Given the description of an element on the screen output the (x, y) to click on. 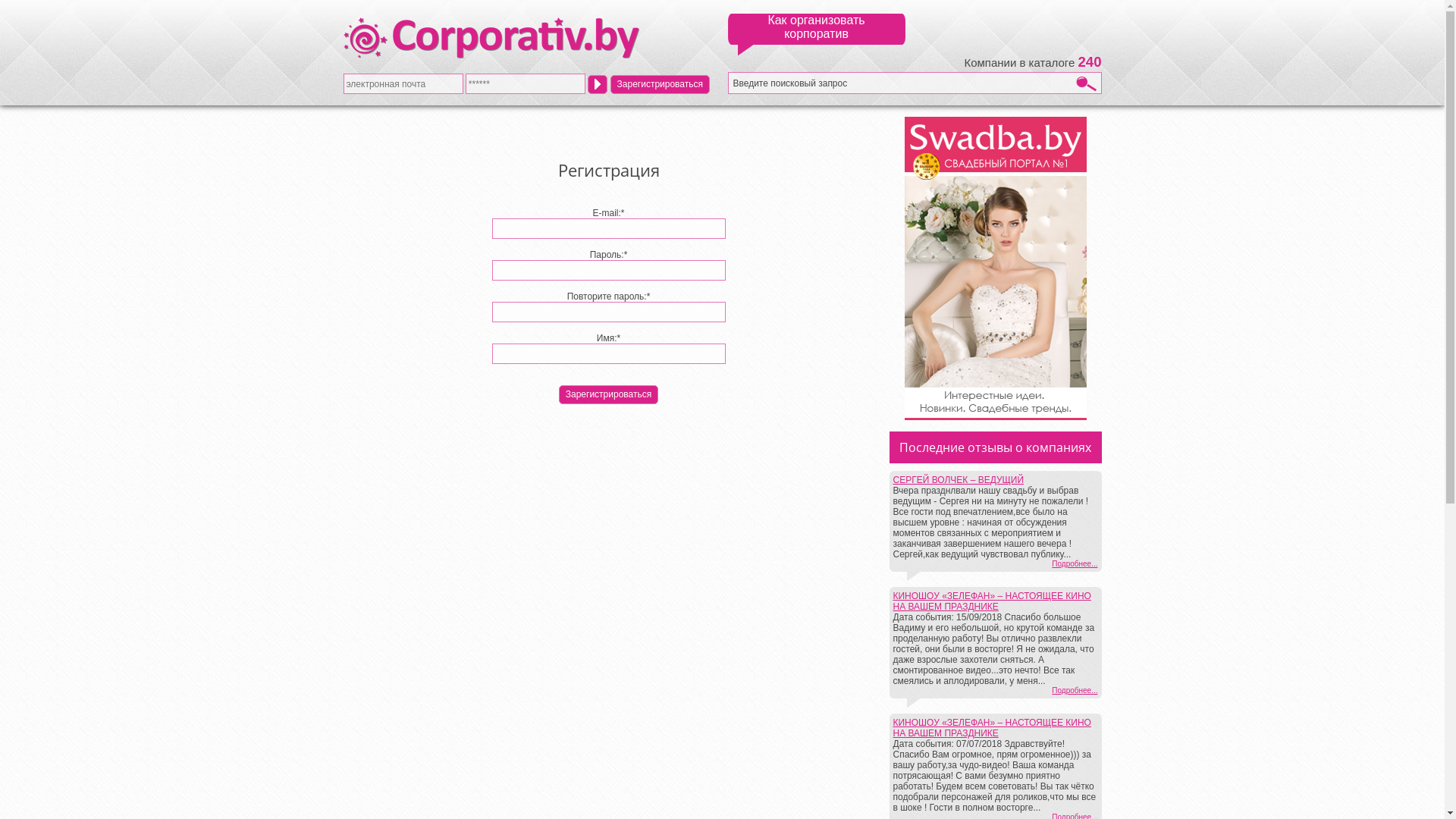
  Element type: text (597, 83)
